Given the description of an element on the screen output the (x, y) to click on. 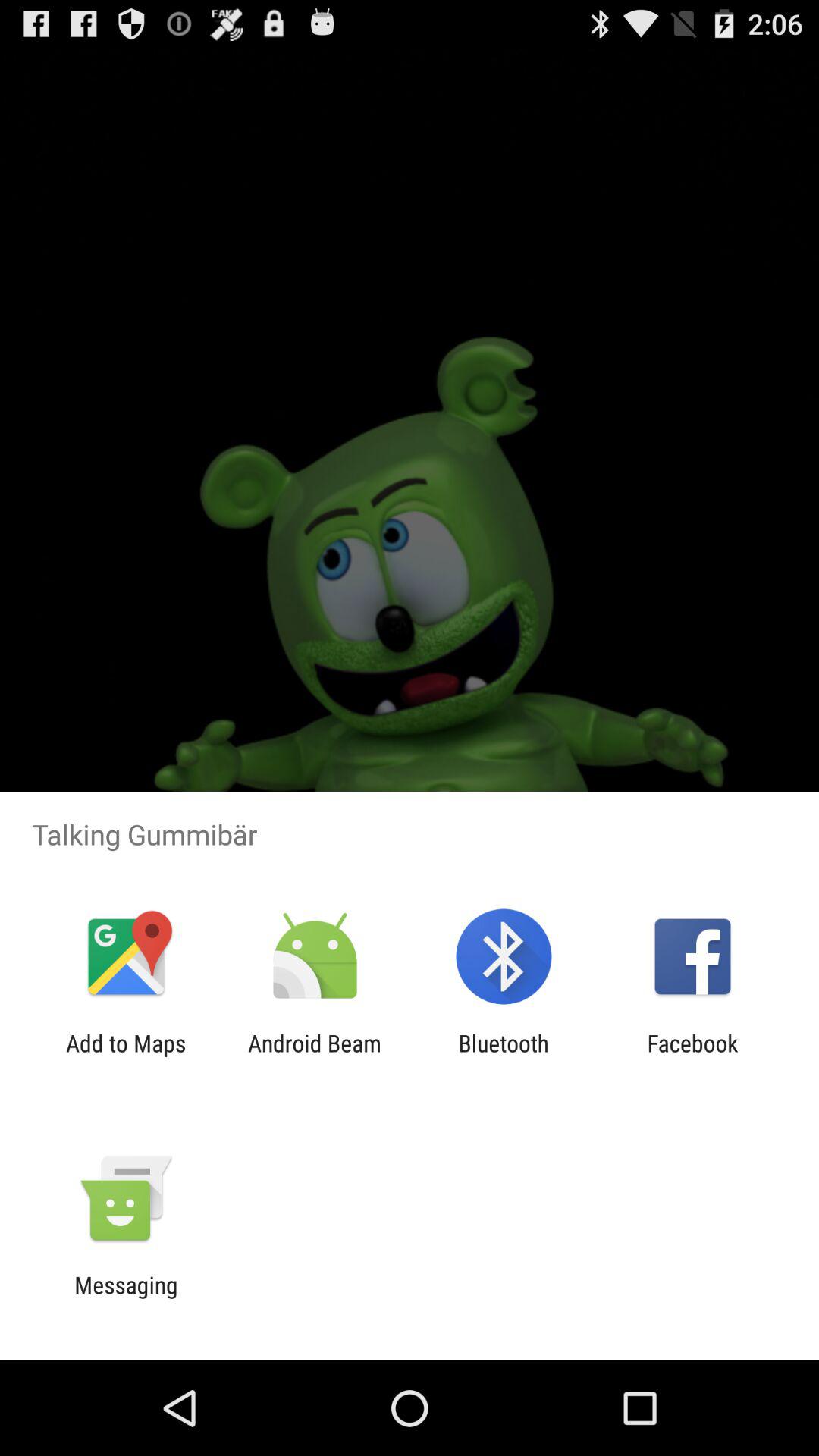
click app to the left of the android beam icon (125, 1056)
